Given the description of an element on the screen output the (x, y) to click on. 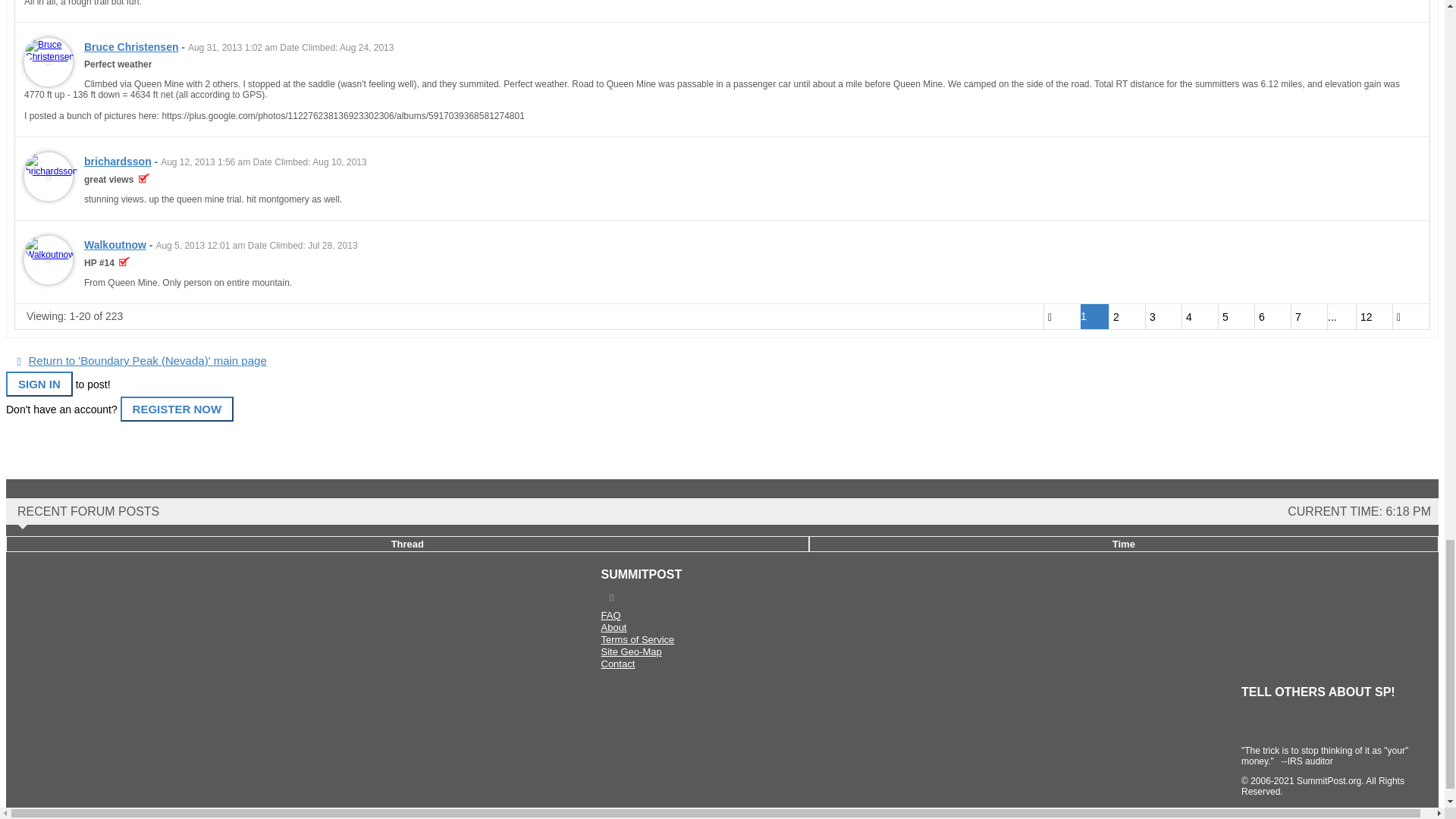
REGISTER NOW (177, 408)
SIGN IN (38, 383)
